Given the description of an element on the screen output the (x, y) to click on. 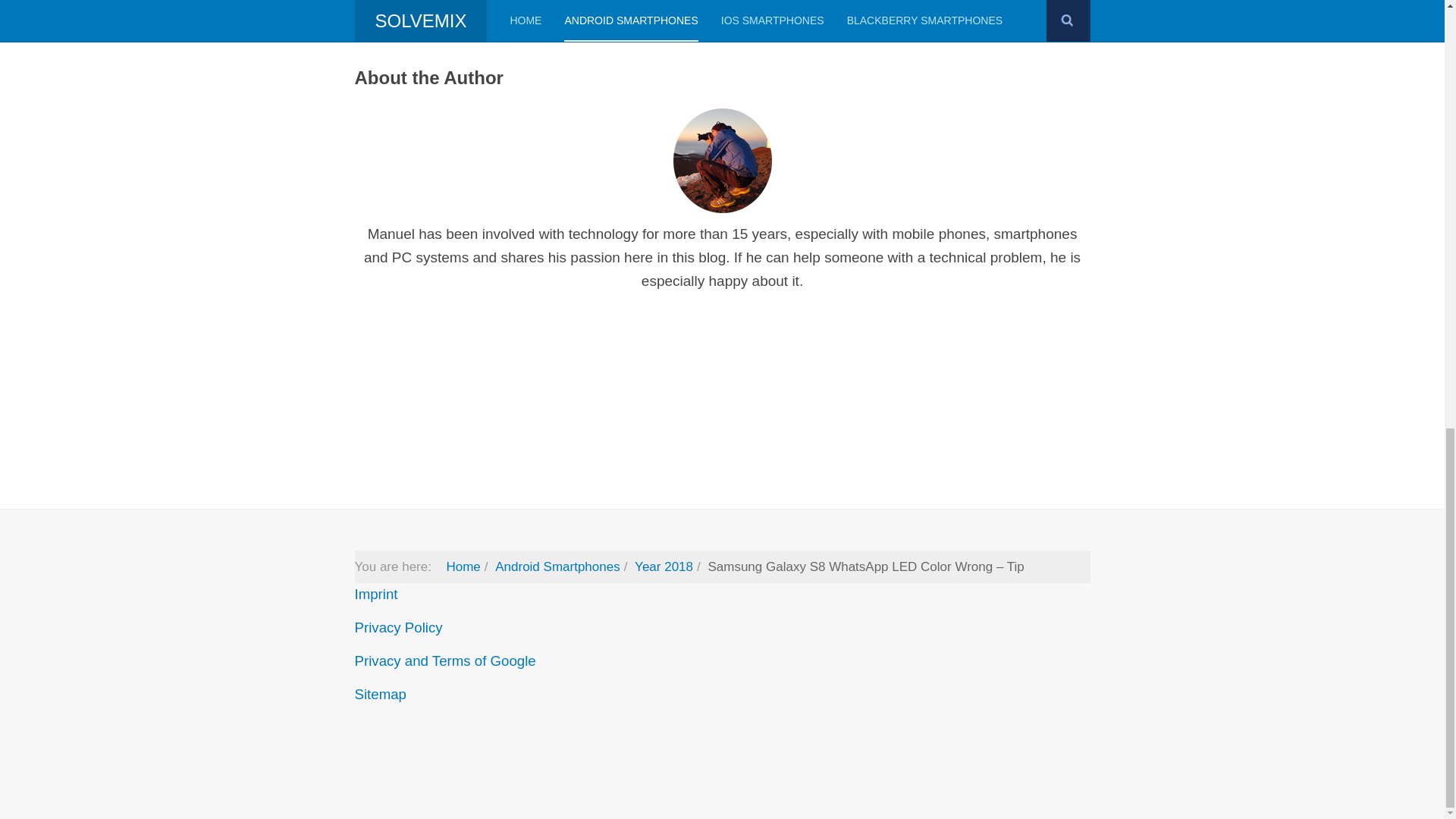
Sitemap (380, 693)
Home (462, 566)
Privacy Policy (398, 627)
Android Smartphones (557, 566)
Year 2018 (663, 566)
Privacy and Terms of Google (445, 660)
Imprint (376, 593)
